Given the description of an element on the screen output the (x, y) to click on. 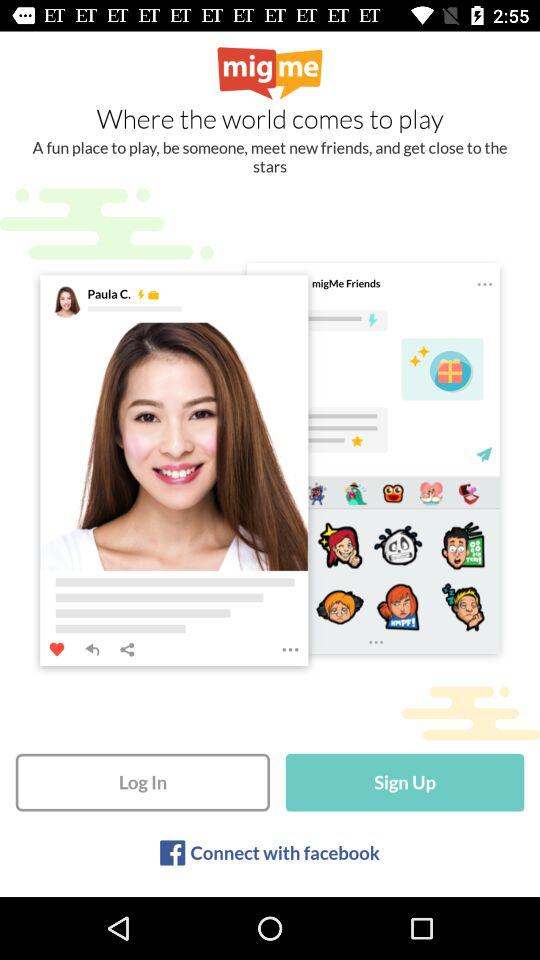
turn on item to the right of log in icon (404, 782)
